Given the description of an element on the screen output the (x, y) to click on. 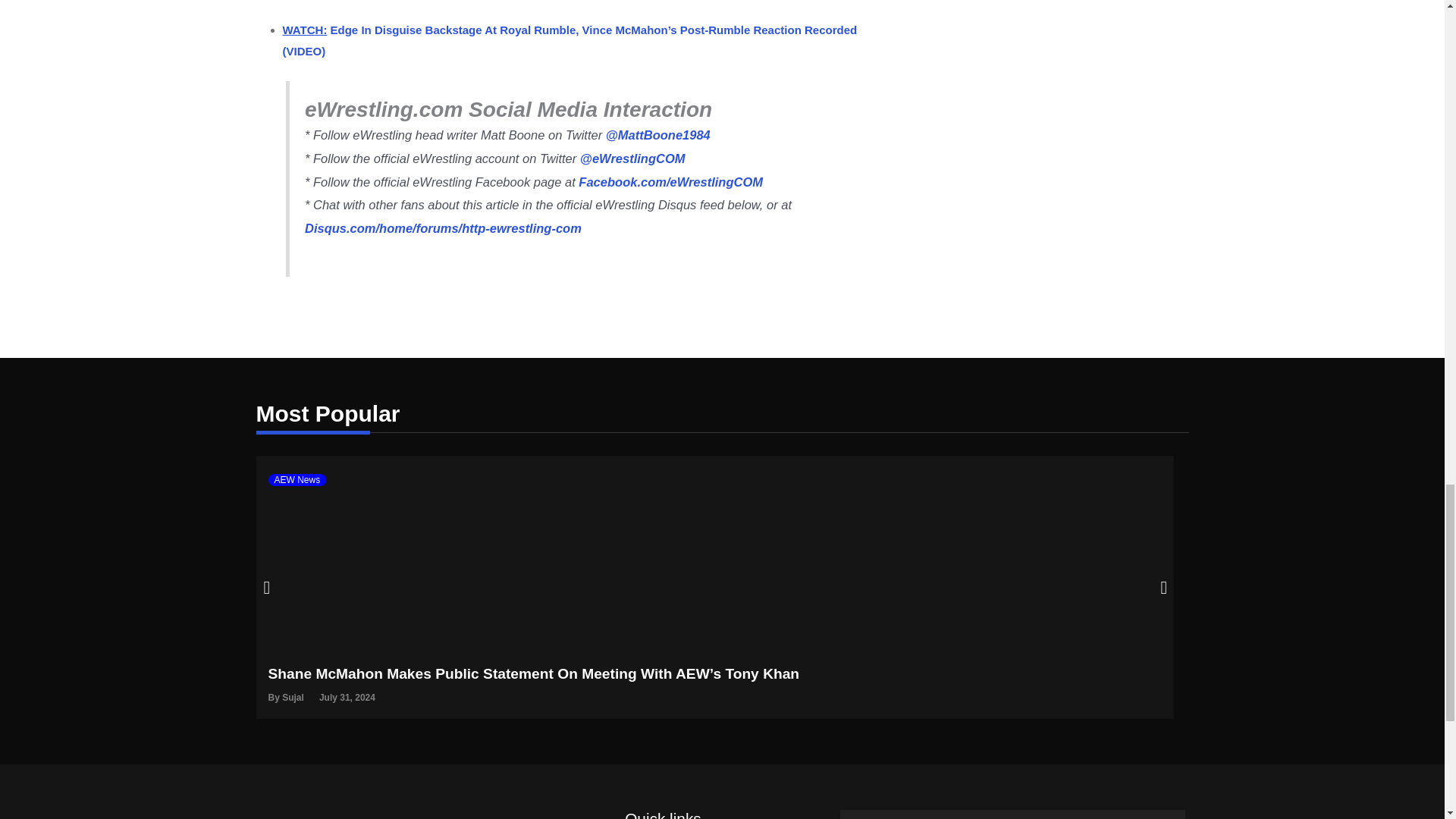
Posts by Sujal (292, 696)
